Given the description of an element on the screen output the (x, y) to click on. 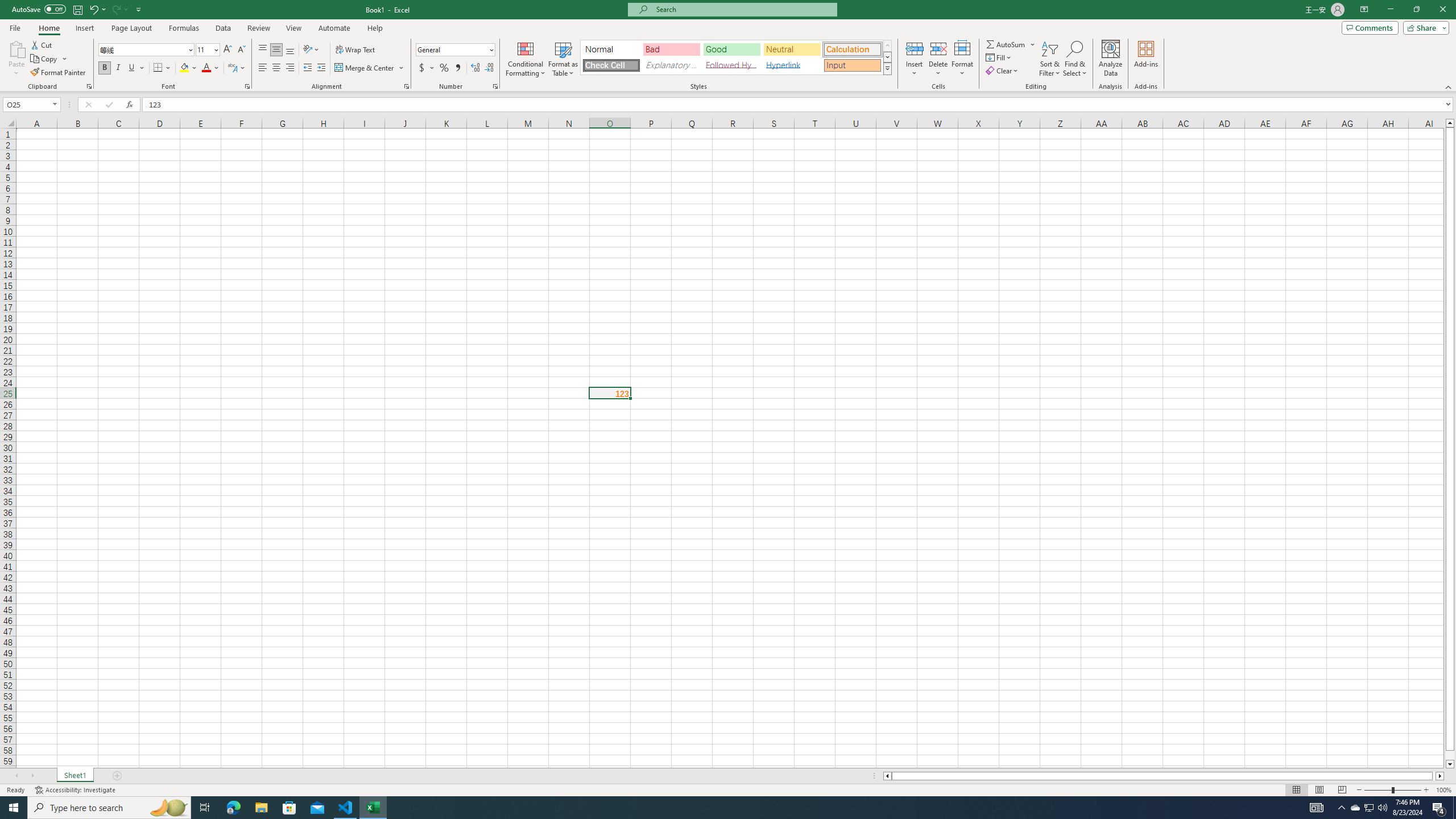
Cell Styles (887, 68)
Find & Select (1075, 58)
Paste (16, 48)
Font (142, 49)
Bottom Border (157, 67)
Office Clipboard... (88, 85)
